Given the description of an element on the screen output the (x, y) to click on. 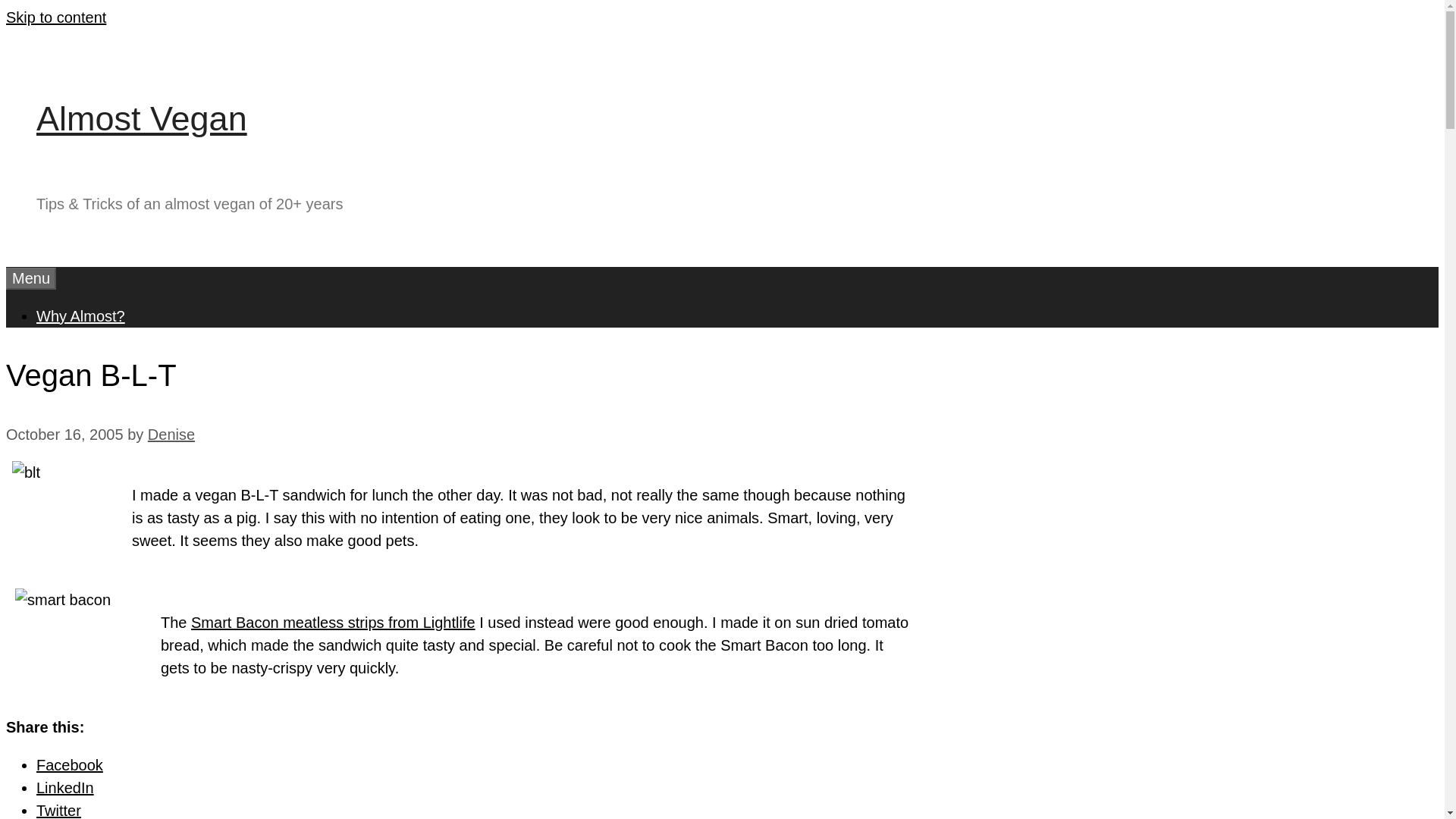
LinkedIn (65, 787)
Facebook (69, 764)
Denise (171, 434)
Click to share on Twitter (58, 810)
Why Almost? (80, 315)
View all posts by Denise (171, 434)
Smart Bacon meatless strips from Lightlife (333, 622)
Twitter (58, 810)
Click to share on LinkedIn (65, 787)
Click to share on Facebook (69, 764)
